Given the description of an element on the screen output the (x, y) to click on. 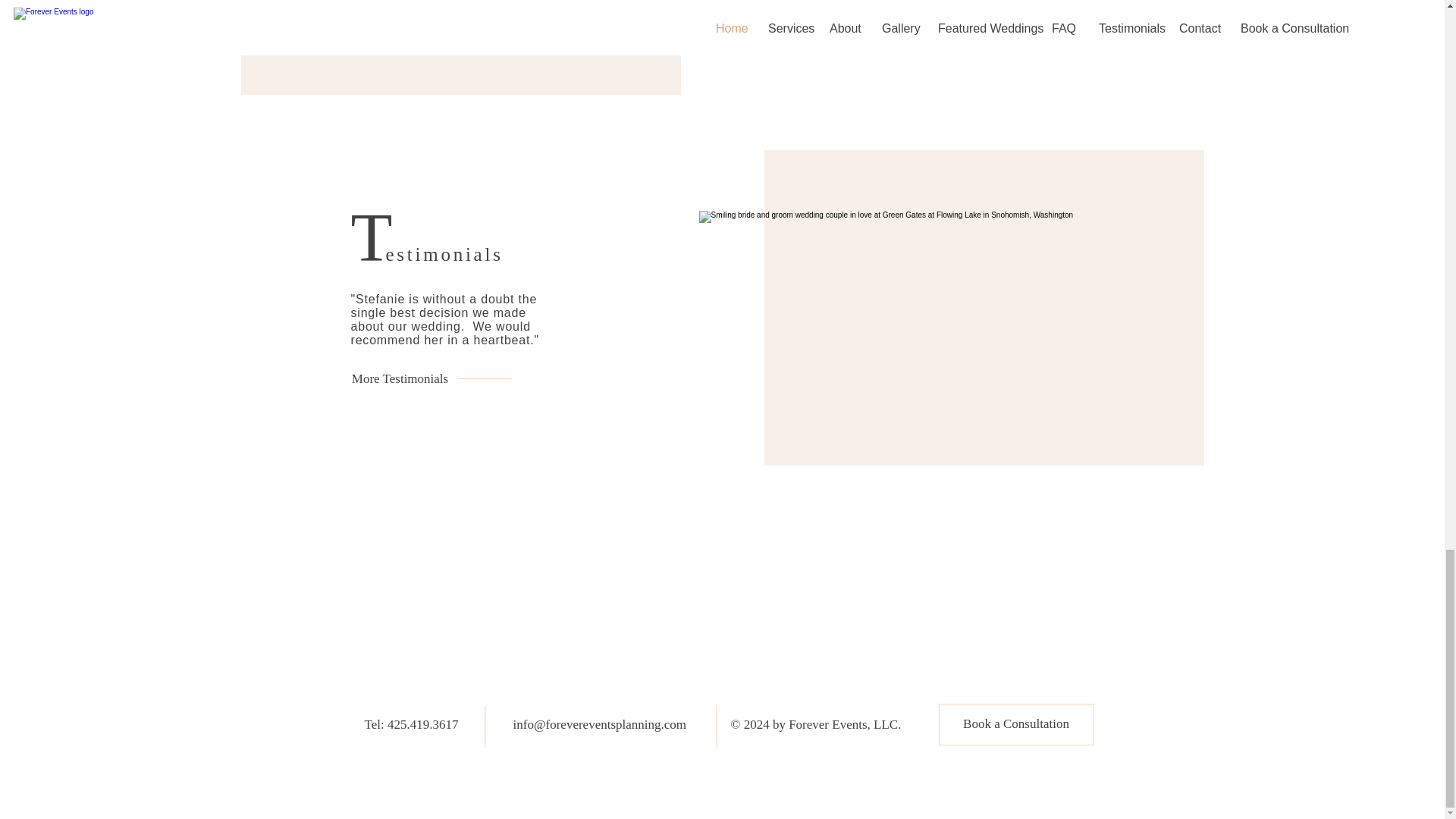
View Photos (895, 9)
More Testimonials (399, 379)
Book a Consultation (1016, 724)
